Given the description of an element on the screen output the (x, y) to click on. 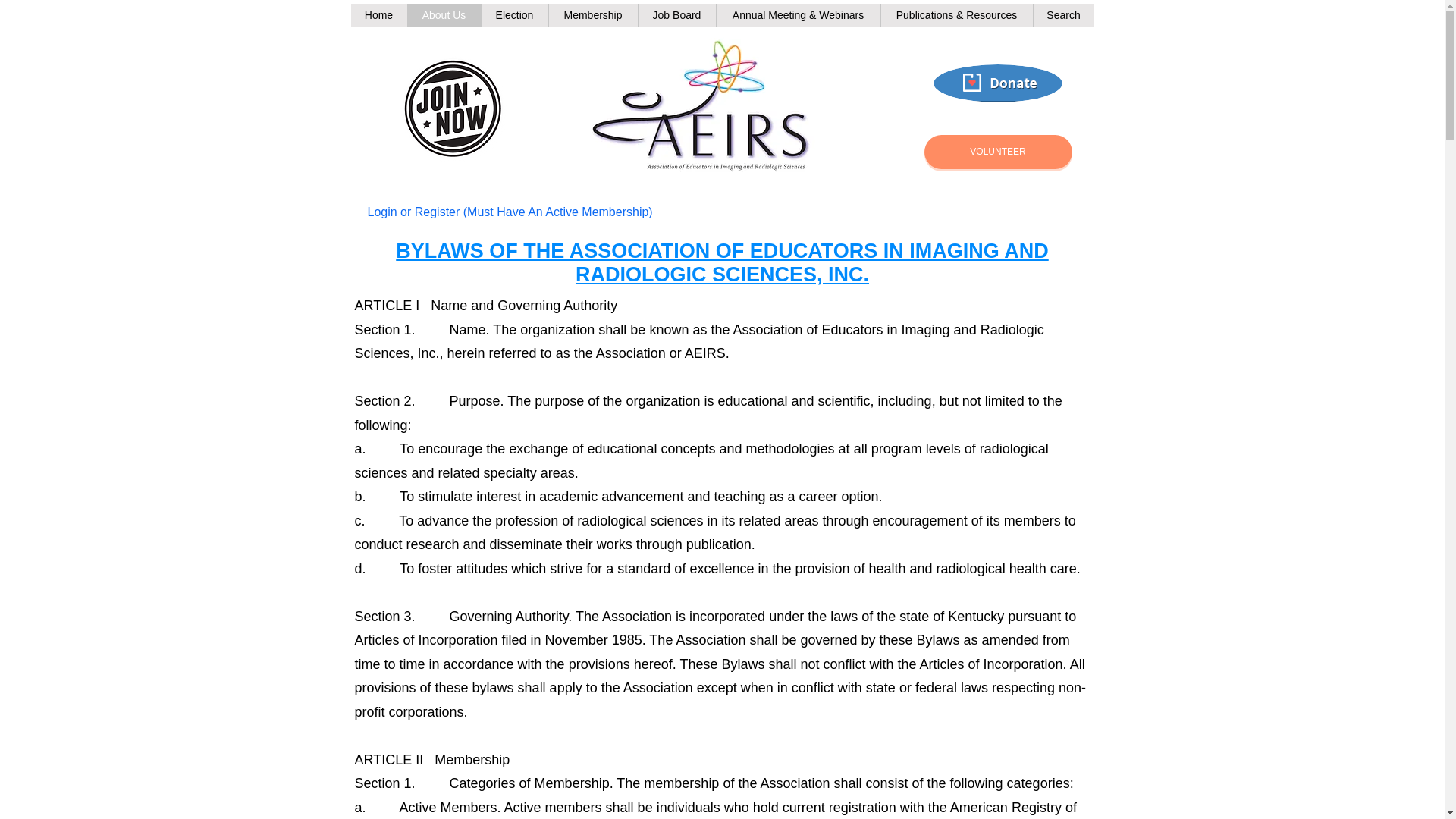
Election (514, 15)
VOLUNTEER (997, 151)
Membership (592, 15)
Job Board (675, 15)
Home (378, 15)
Search (1063, 15)
About Us (443, 15)
